Given the description of an element on the screen output the (x, y) to click on. 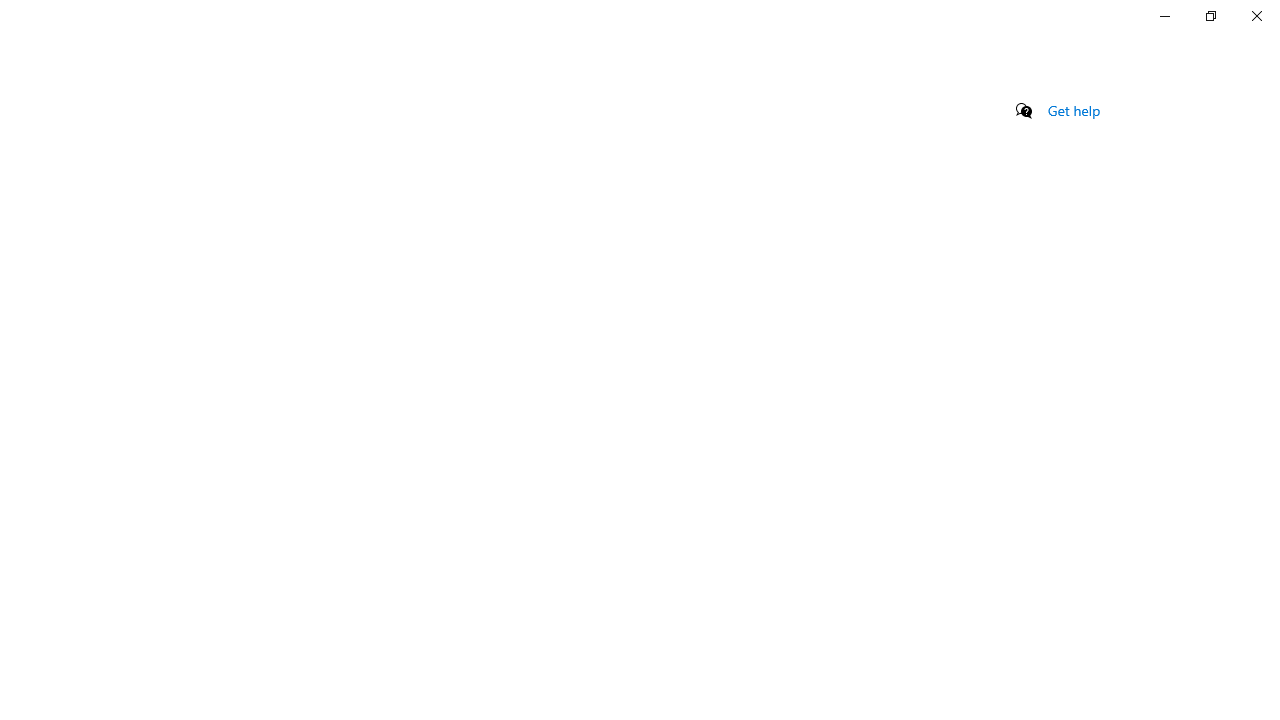
Restore Settings (1210, 15)
Get help (1074, 110)
Minimize Settings (1164, 15)
Close Settings (1256, 15)
